Given the description of an element on the screen output the (x, y) to click on. 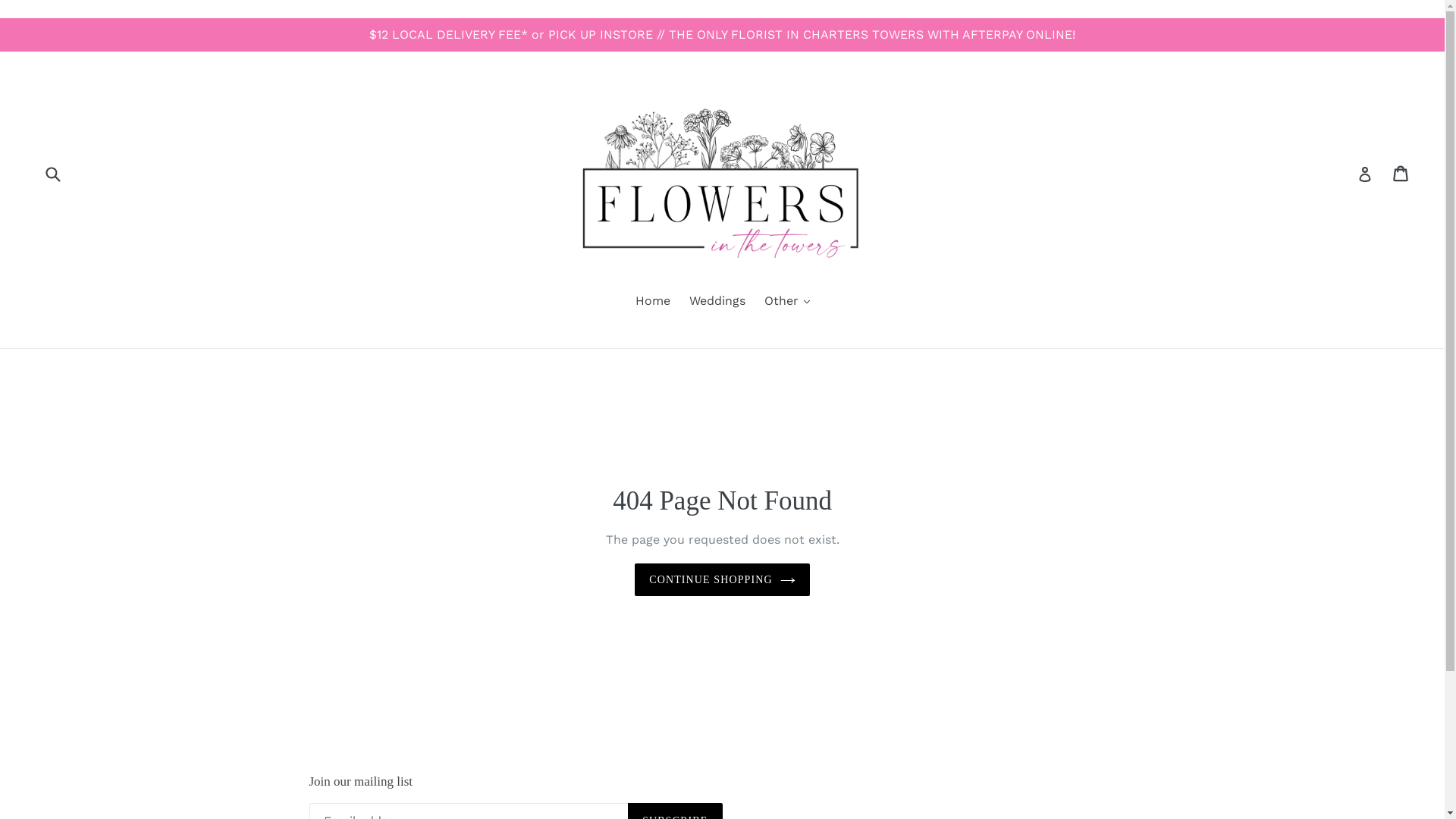
Submit Element type: text (51, 173)
Cart
Cart Element type: text (1401, 173)
CONTINUE SHOPPING Element type: text (721, 579)
Home Element type: text (652, 301)
Weddings Element type: text (716, 301)
Log in Element type: text (1364, 173)
